Given the description of an element on the screen output the (x, y) to click on. 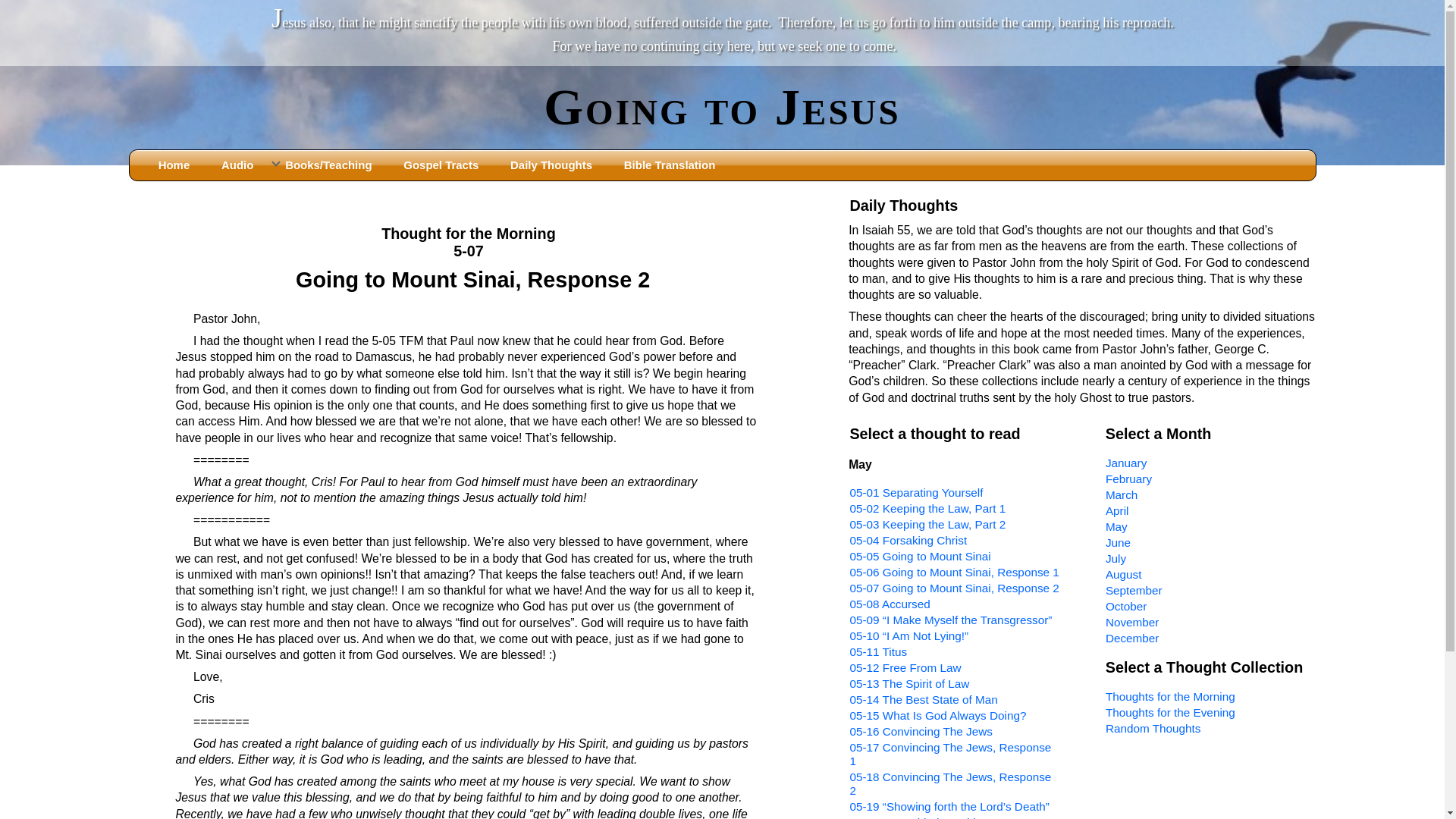
Audio (234, 164)
Daily Thoughts (548, 164)
Home (170, 164)
Gospel Tracts (438, 164)
Bible Translation (666, 164)
